Given the description of an element on the screen output the (x, y) to click on. 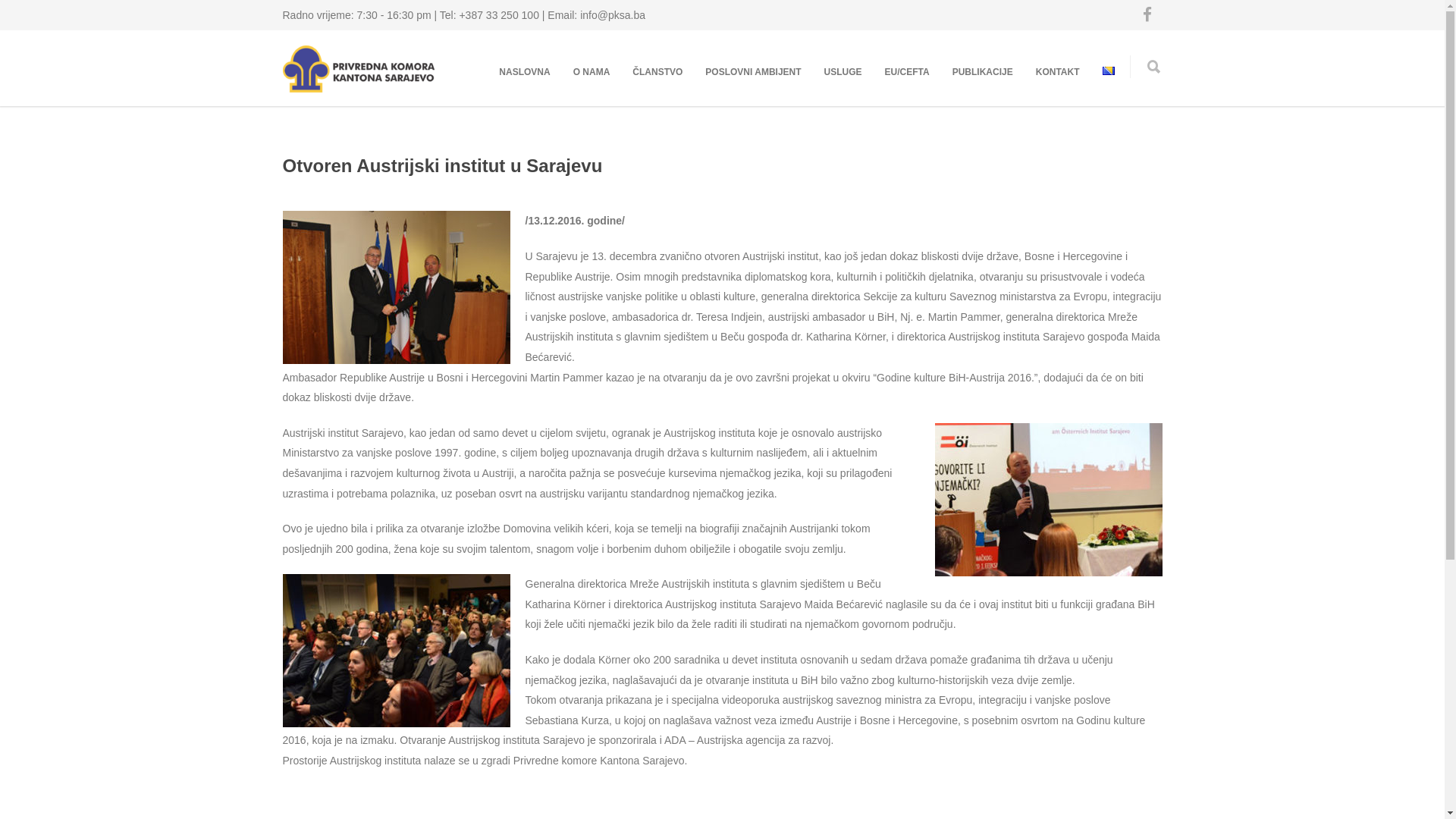
EU/CEFTA Element type: text (907, 71)
Facebook Element type: hover (1146, 15)
O NAMA Element type: text (591, 71)
POSLOVNI AMBIJENT Element type: text (752, 71)
NASLOVNA Element type: text (524, 71)
Otvoren Austrijski institut u Sarajevu Element type: text (442, 165)
KONTAKT Element type: text (1057, 71)
USLUGE Element type: text (842, 71)
Email: info@pksa.ba Element type: text (596, 15)
PUBLIKACIJE Element type: text (982, 71)
